Given the description of an element on the screen output the (x, y) to click on. 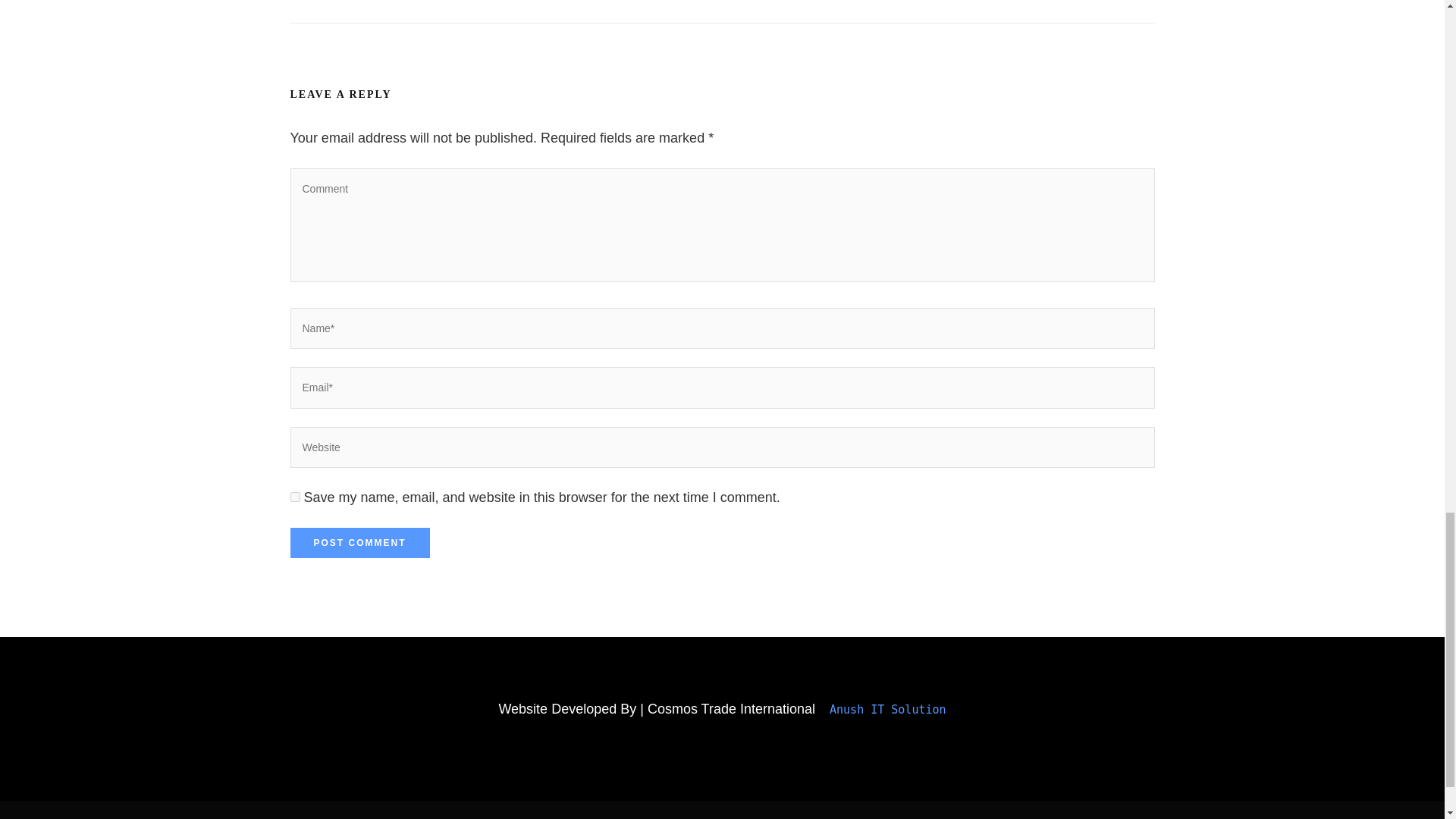
Post Comment (359, 542)
yes (294, 497)
Anush IT Solution (884, 709)
Post Comment (359, 542)
